Given the description of an element on the screen output the (x, y) to click on. 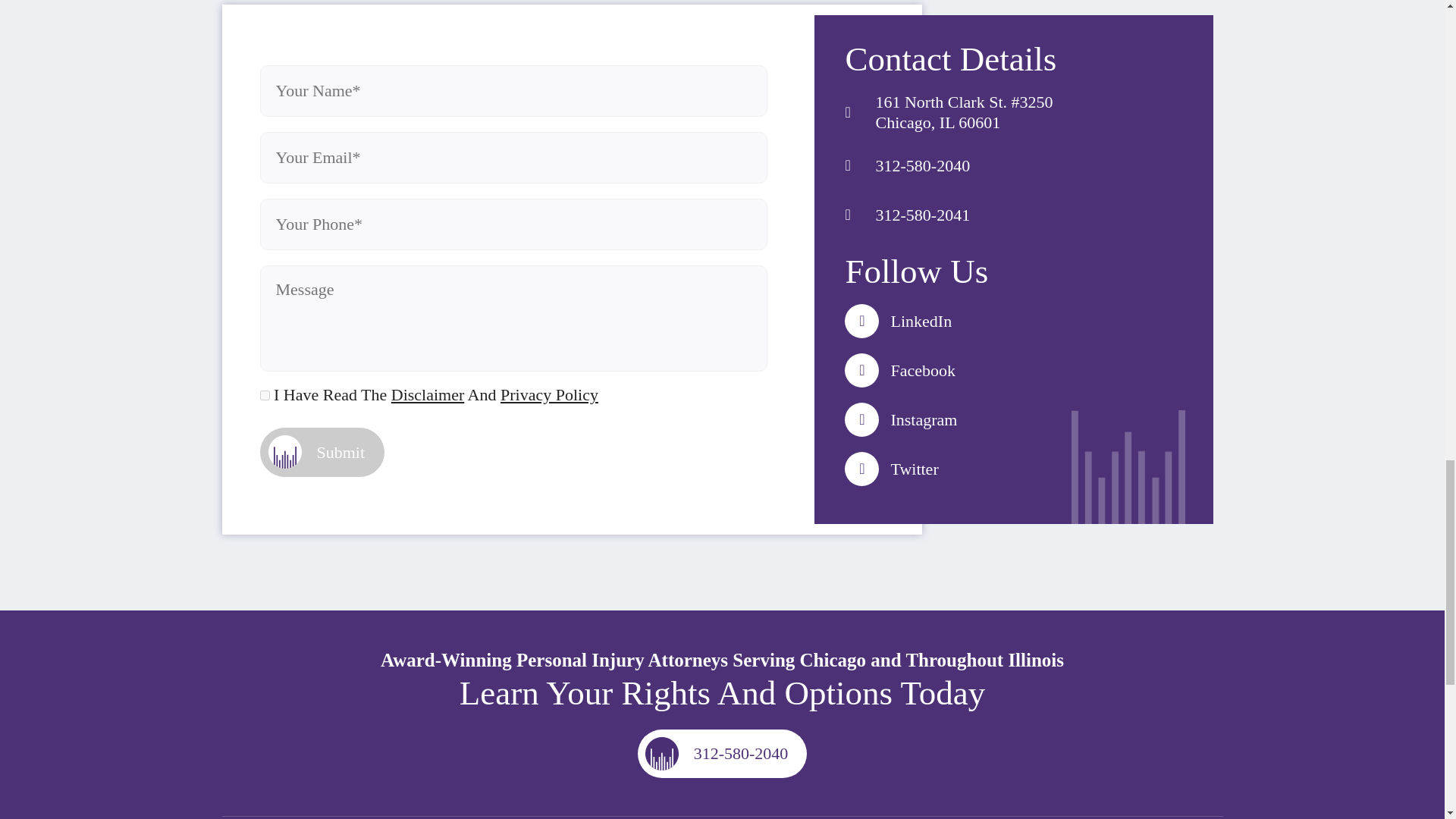
Submit (321, 451)
1 (264, 394)
Privacy Policy (549, 394)
Disclaimer (427, 394)
